Given the description of an element on the screen output the (x, y) to click on. 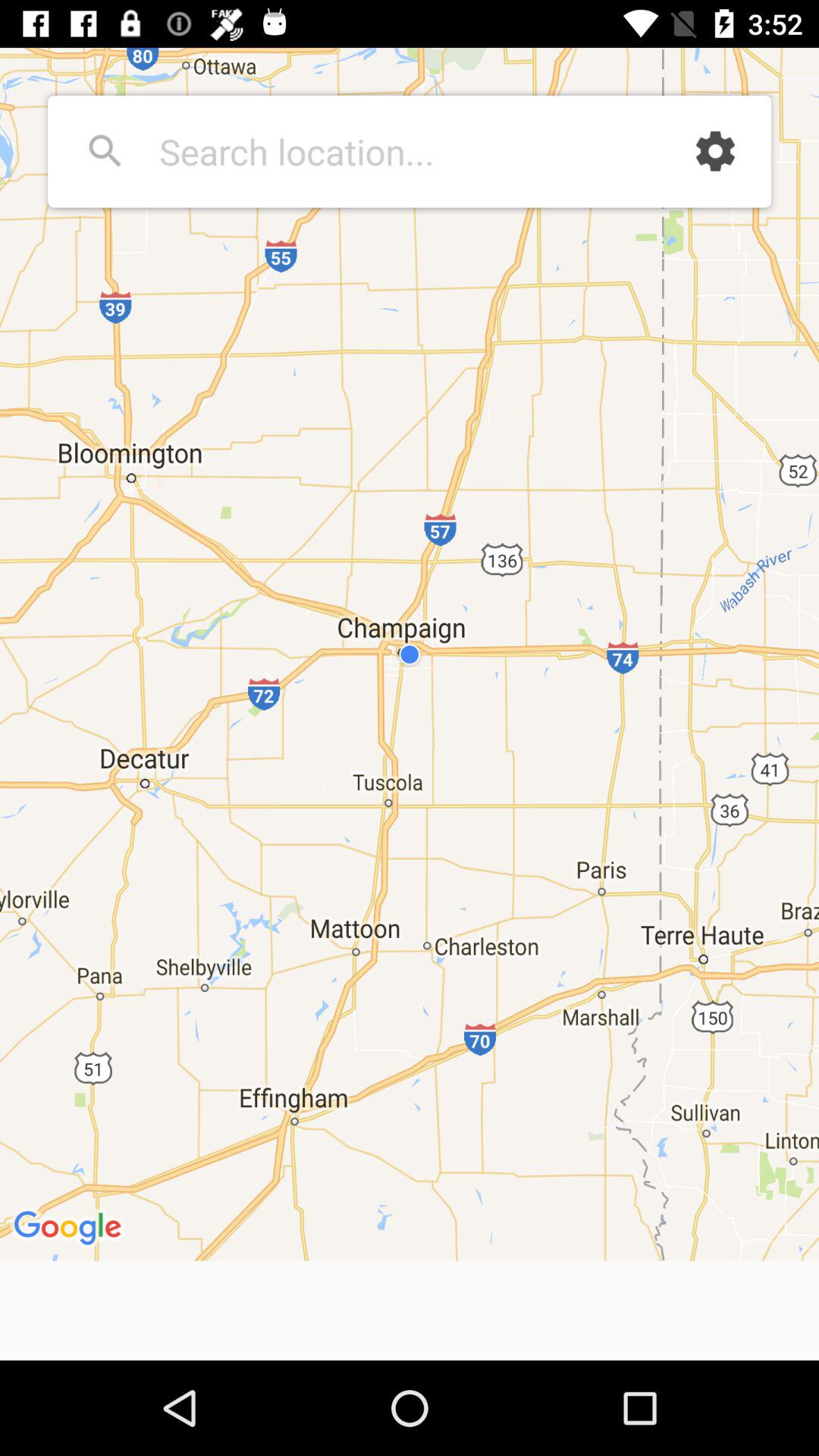
open the icon at the top right corner (715, 151)
